Given the description of an element on the screen output the (x, y) to click on. 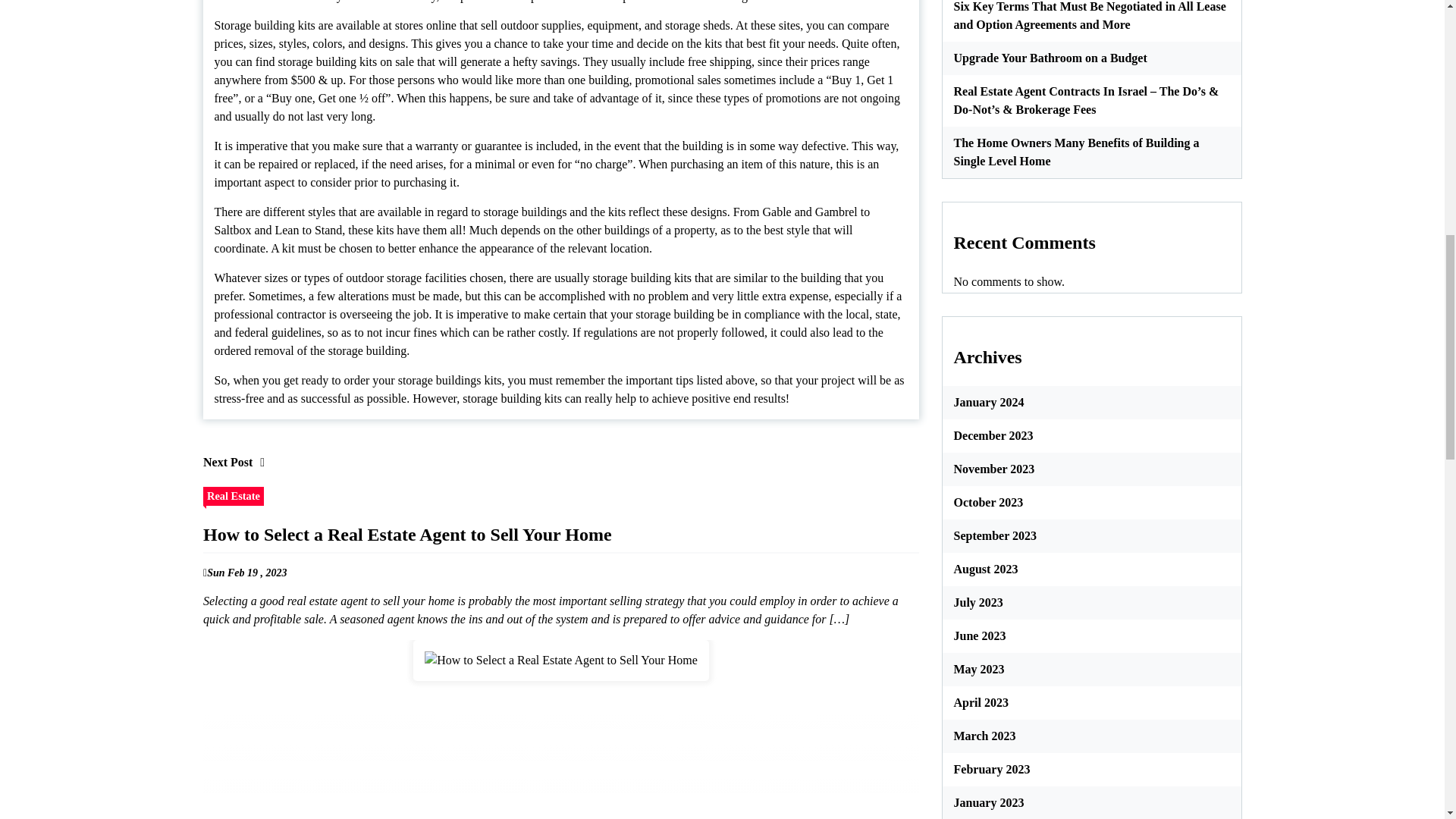
How to Select a Real Estate Agent to Sell Your Home (561, 659)
